Given the description of an element on the screen output the (x, y) to click on. 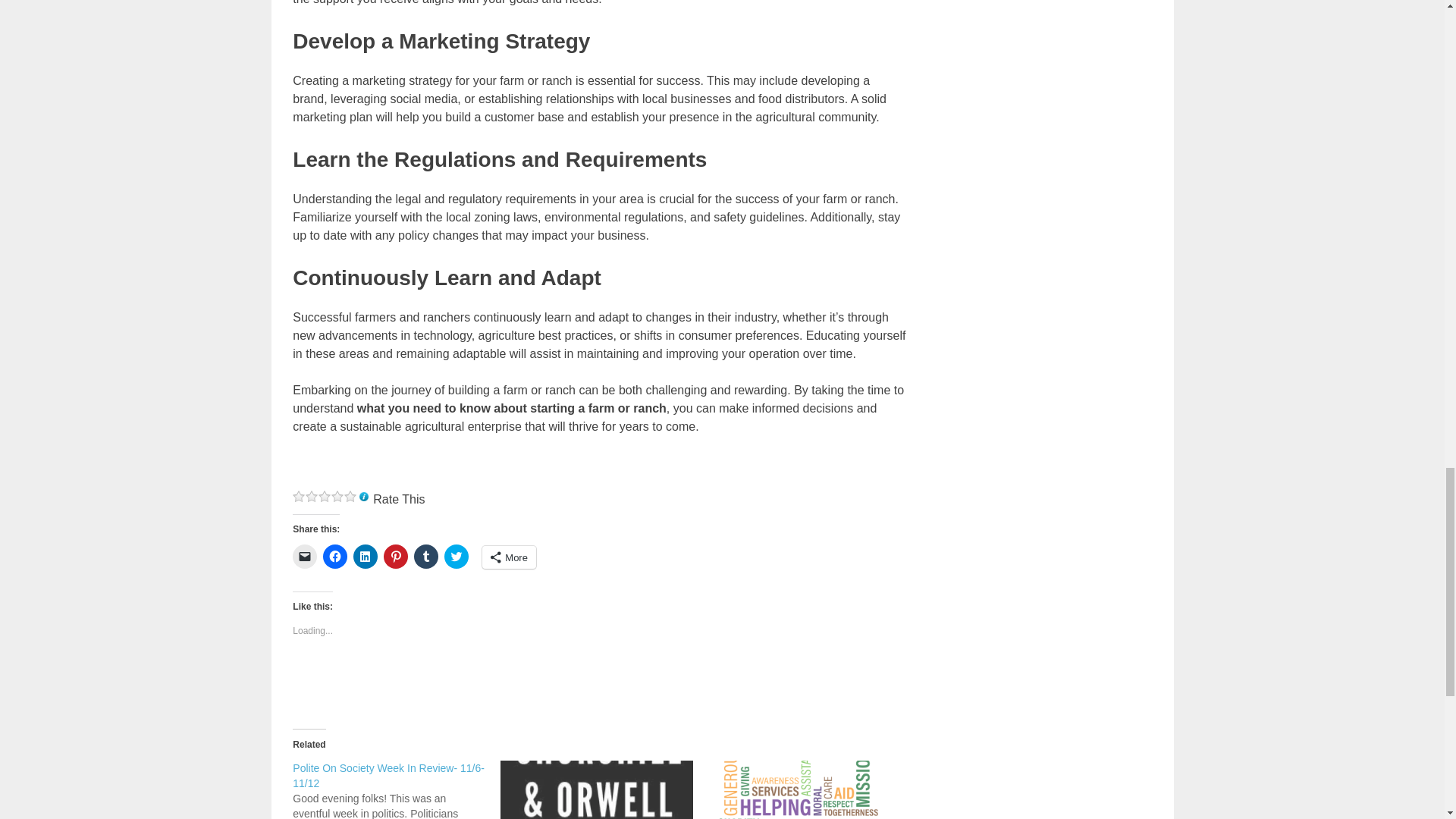
Click to share on Twitter (456, 556)
Click to share on Tumblr (425, 556)
Like or Reblog (598, 683)
Click to share on Pinterest (395, 556)
More (508, 557)
Click to email a link to a friend (304, 556)
Click to share on Facebook (335, 556)
Click to share on LinkedIn (365, 556)
